Given the description of an element on the screen output the (x, y) to click on. 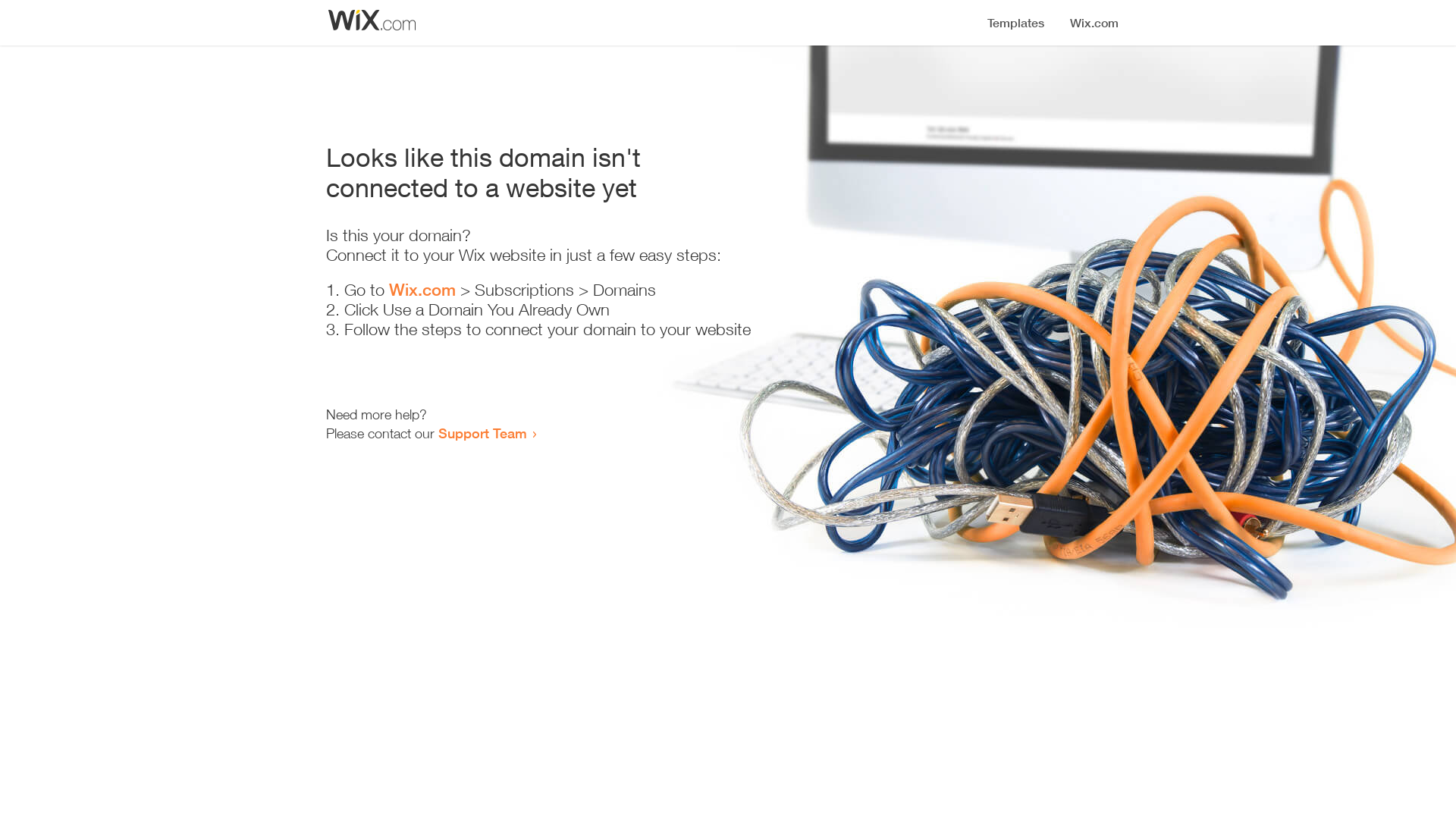
Support Team Element type: text (482, 432)
Wix.com Element type: text (422, 289)
